Given the description of an element on the screen output the (x, y) to click on. 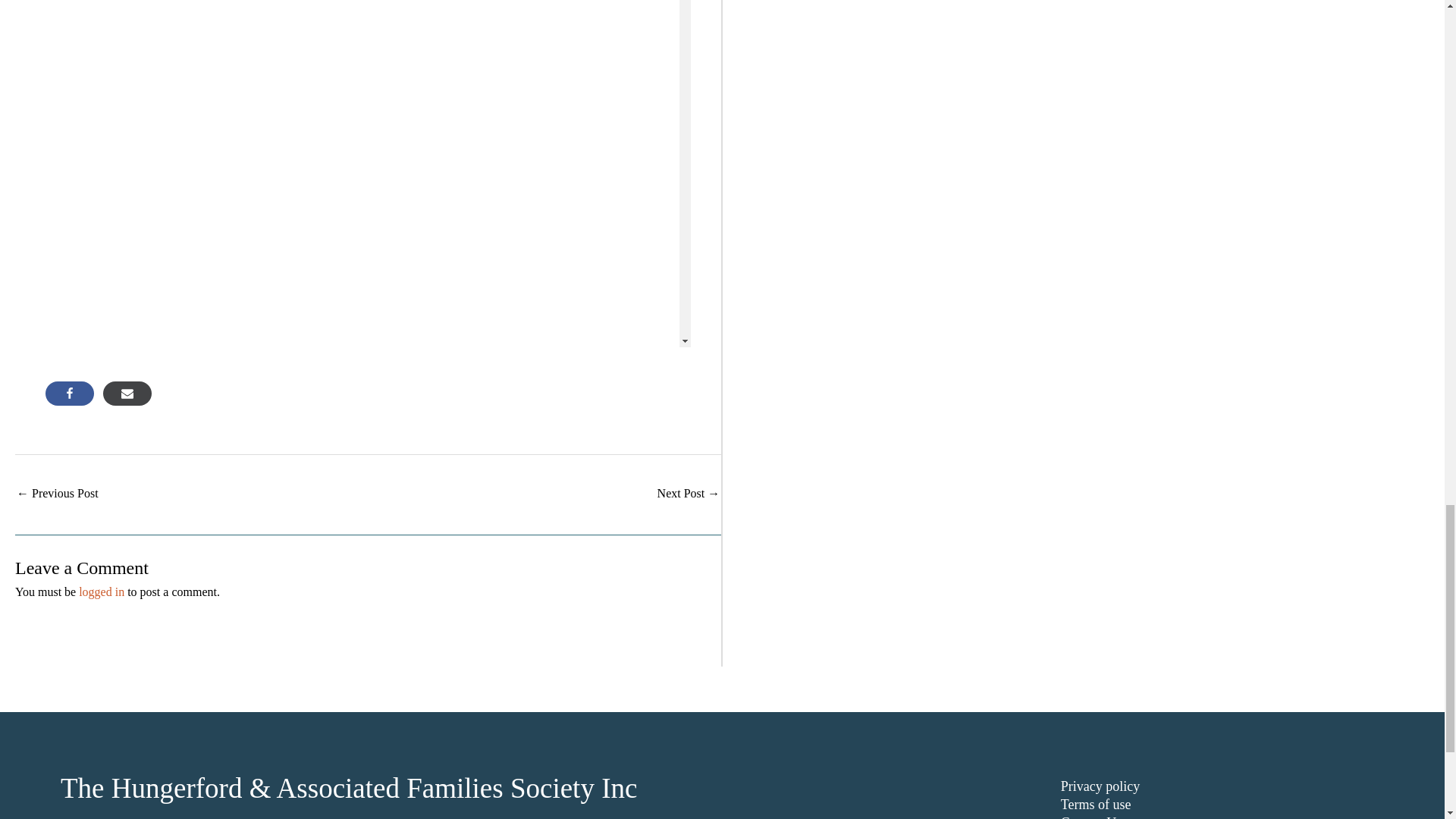
Share via Email (127, 393)
HAFS Journal Vol 12 No 4 - Nov 2014 (689, 494)
HAFS Journal Vol 12 No 2 - Nov 2013 (57, 494)
Share on Facebook (69, 393)
